Given the description of an element on the screen output the (x, y) to click on. 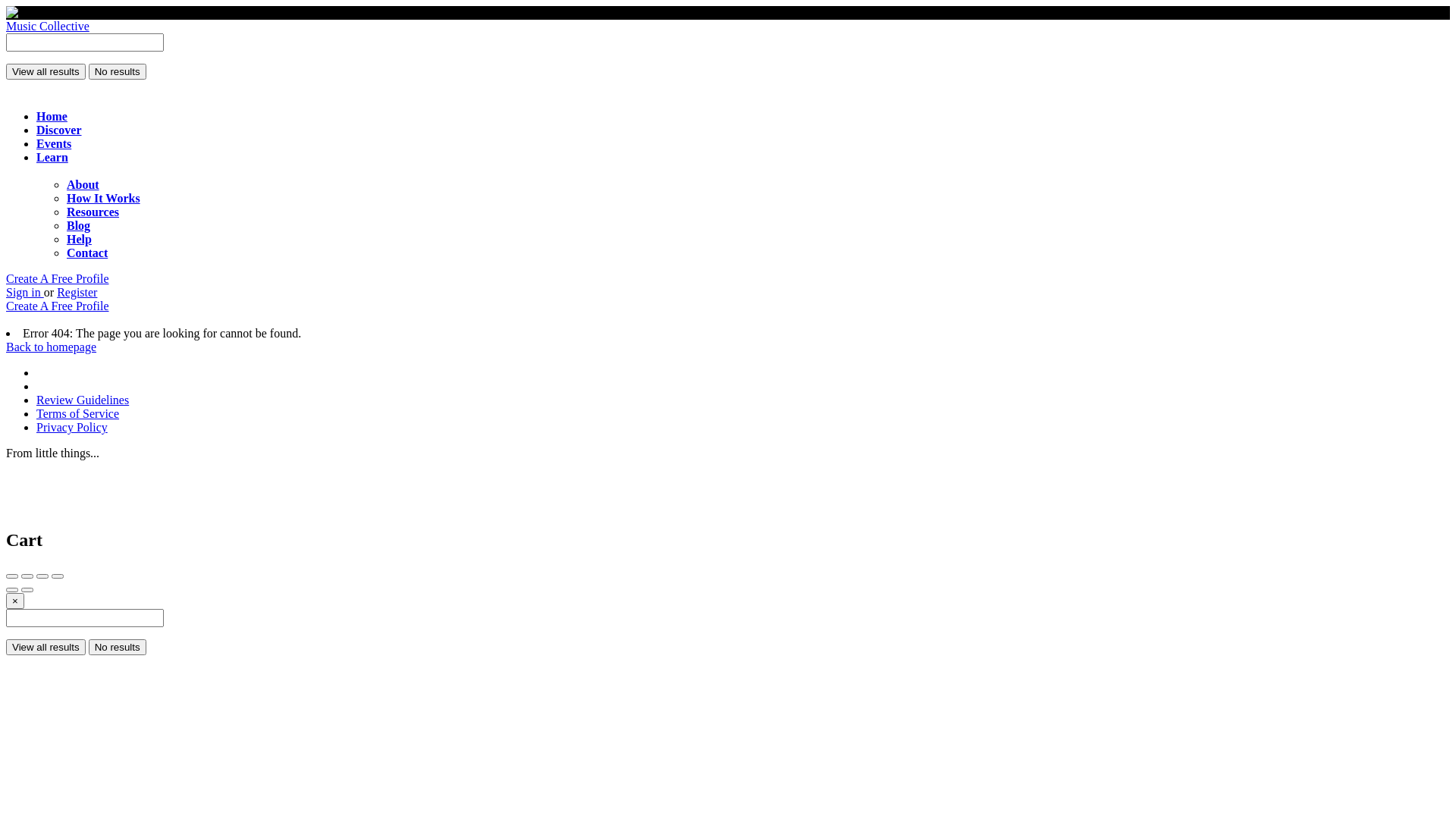
Previous (arrow left) Element type: hover (12, 589)
Events Element type: text (53, 143)
Learn Element type: text (52, 156)
View all results Element type: text (45, 71)
Zoom in/out Element type: hover (57, 576)
About Element type: text (82, 184)
Back to homepage Element type: text (51, 346)
Sign in Element type: text (24, 291)
No results Element type: text (117, 647)
Close (Esc) Element type: hover (12, 576)
View all results Element type: text (45, 647)
How It Works Element type: text (103, 197)
Home Element type: text (51, 115)
Next (arrow right) Element type: hover (27, 589)
Blog Element type: text (78, 225)
Review Guidelines Element type: text (82, 399)
Contact Element type: text (86, 252)
Terms of Service Element type: text (77, 413)
Music Collective Element type: text (47, 25)
No results Element type: text (117, 71)
Share Element type: hover (27, 576)
Create A Free Profile Element type: text (57, 278)
Create A Free Profile Element type: text (57, 305)
Toggle fullscreen Element type: hover (42, 576)
Privacy Policy Element type: text (71, 426)
Resources Element type: text (92, 211)
Discover Element type: text (58, 129)
Register Element type: text (76, 291)
Help Element type: text (78, 238)
